Given the description of an element on the screen output the (x, y) to click on. 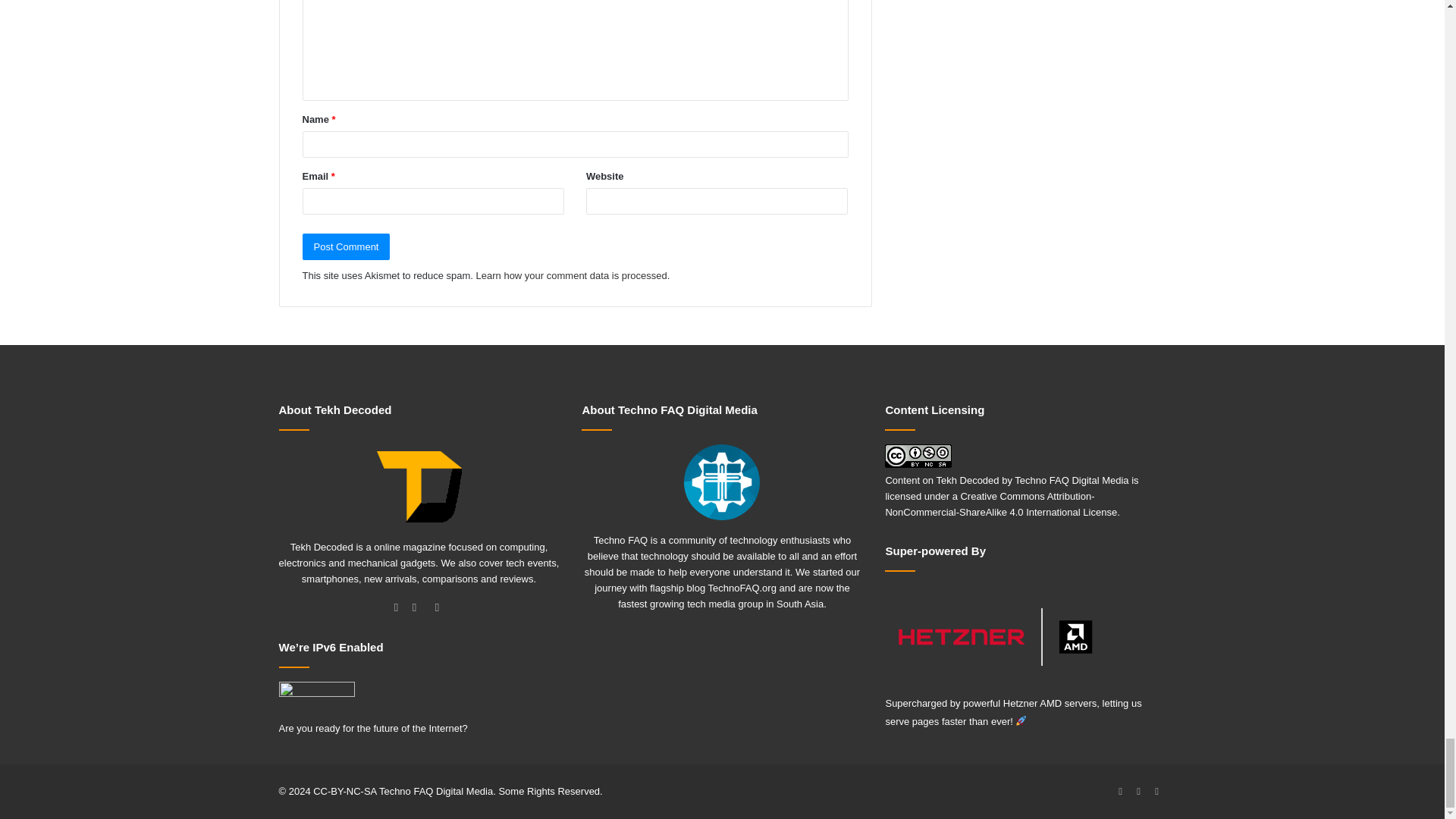
Post Comment (345, 246)
